Given the description of an element on the screen output the (x, y) to click on. 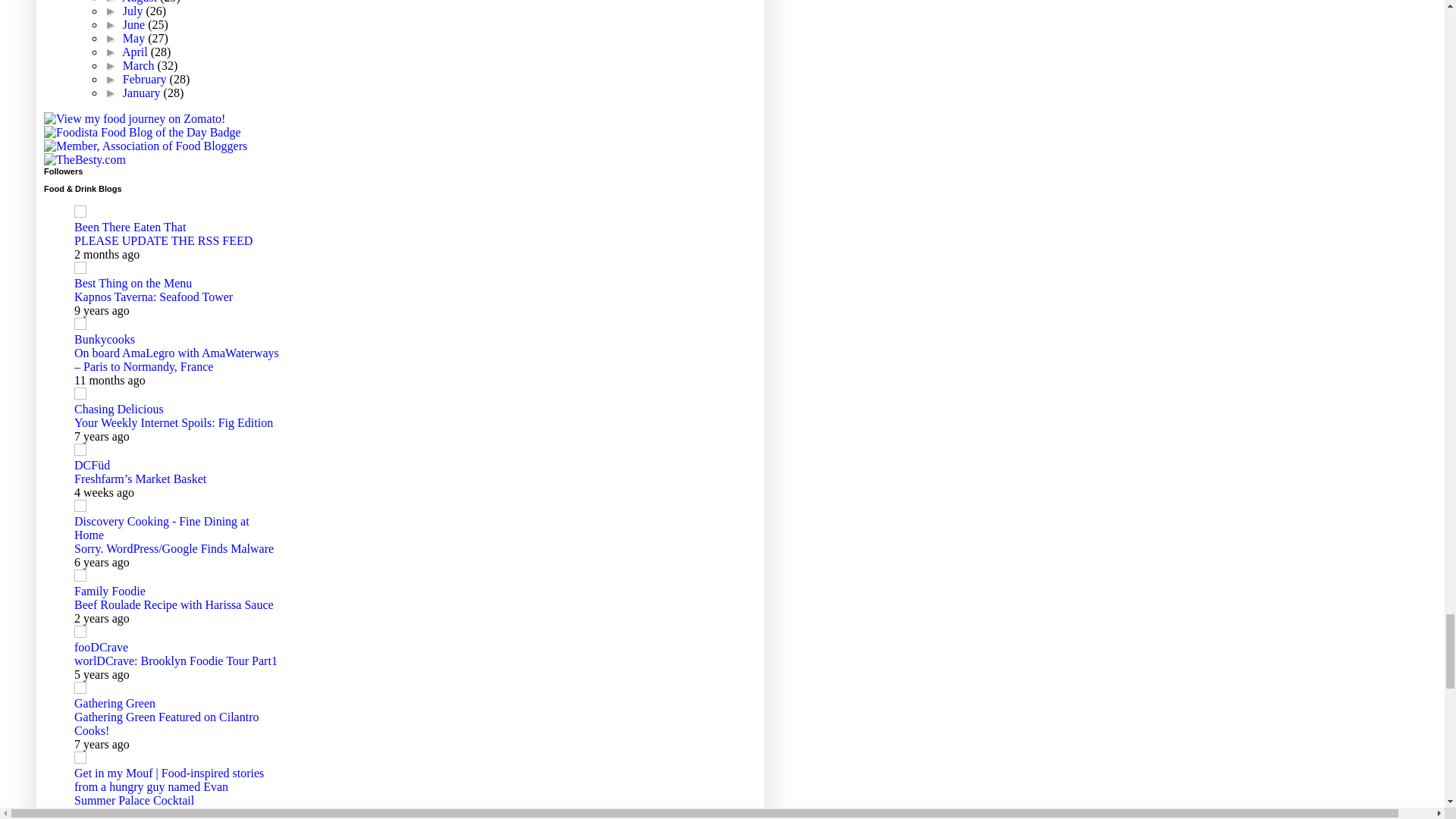
Foodista Food Blog of the Day Badge (142, 132)
View Cook In Dine Out's food journey on Zomato! (134, 118)
